Given the description of an element on the screen output the (x, y) to click on. 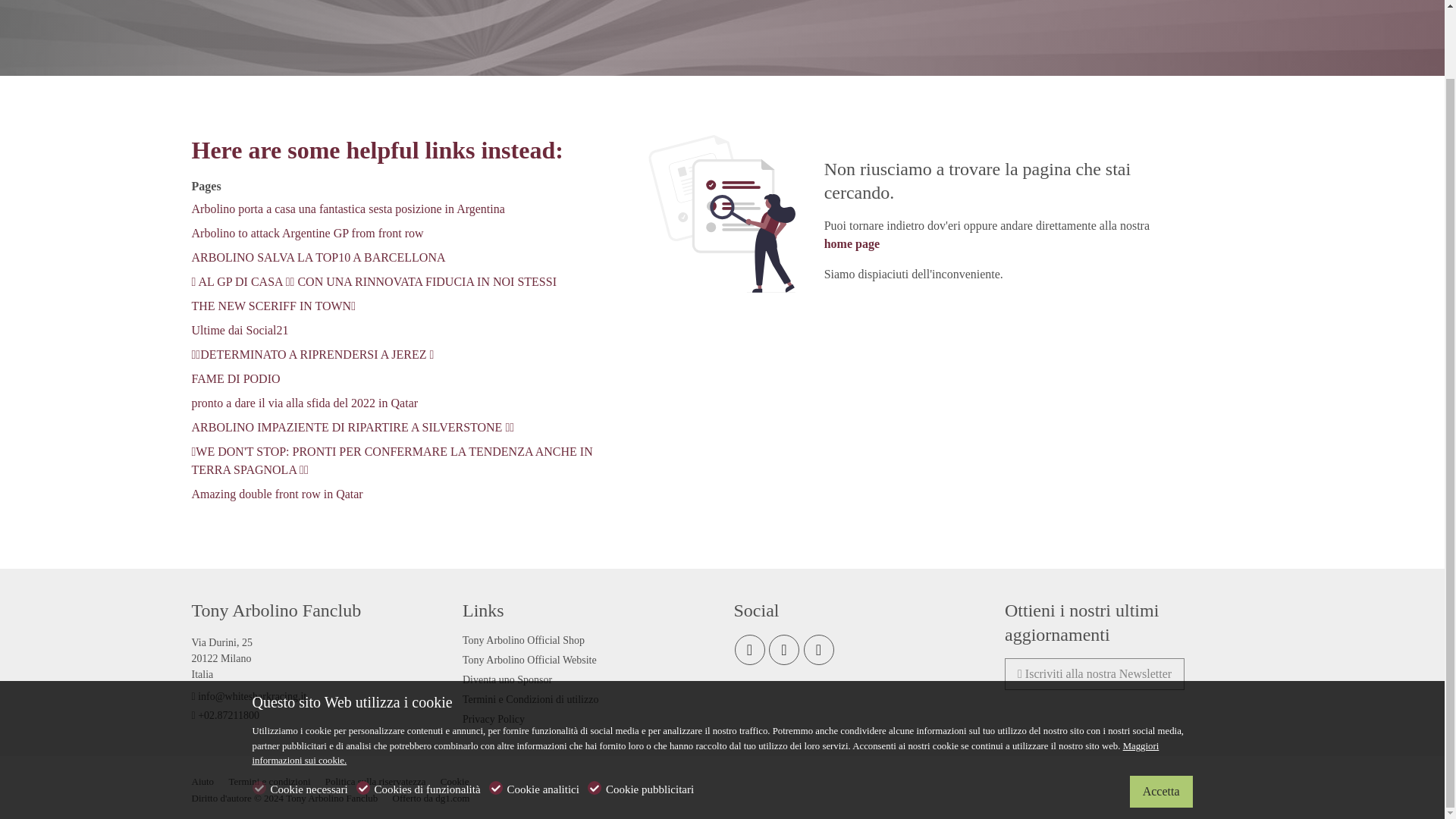
Tony Arbolino Official Shop (524, 640)
Diventa uno Sponsor (507, 679)
Ultime dai Social21 (239, 329)
ARBOLINO SALVA LA TOP10 A BARCELLONA (317, 256)
Tony Arbolino Official Website (529, 659)
Arbolino to attack Argentine GP from front row (306, 232)
